Given the description of an element on the screen output the (x, y) to click on. 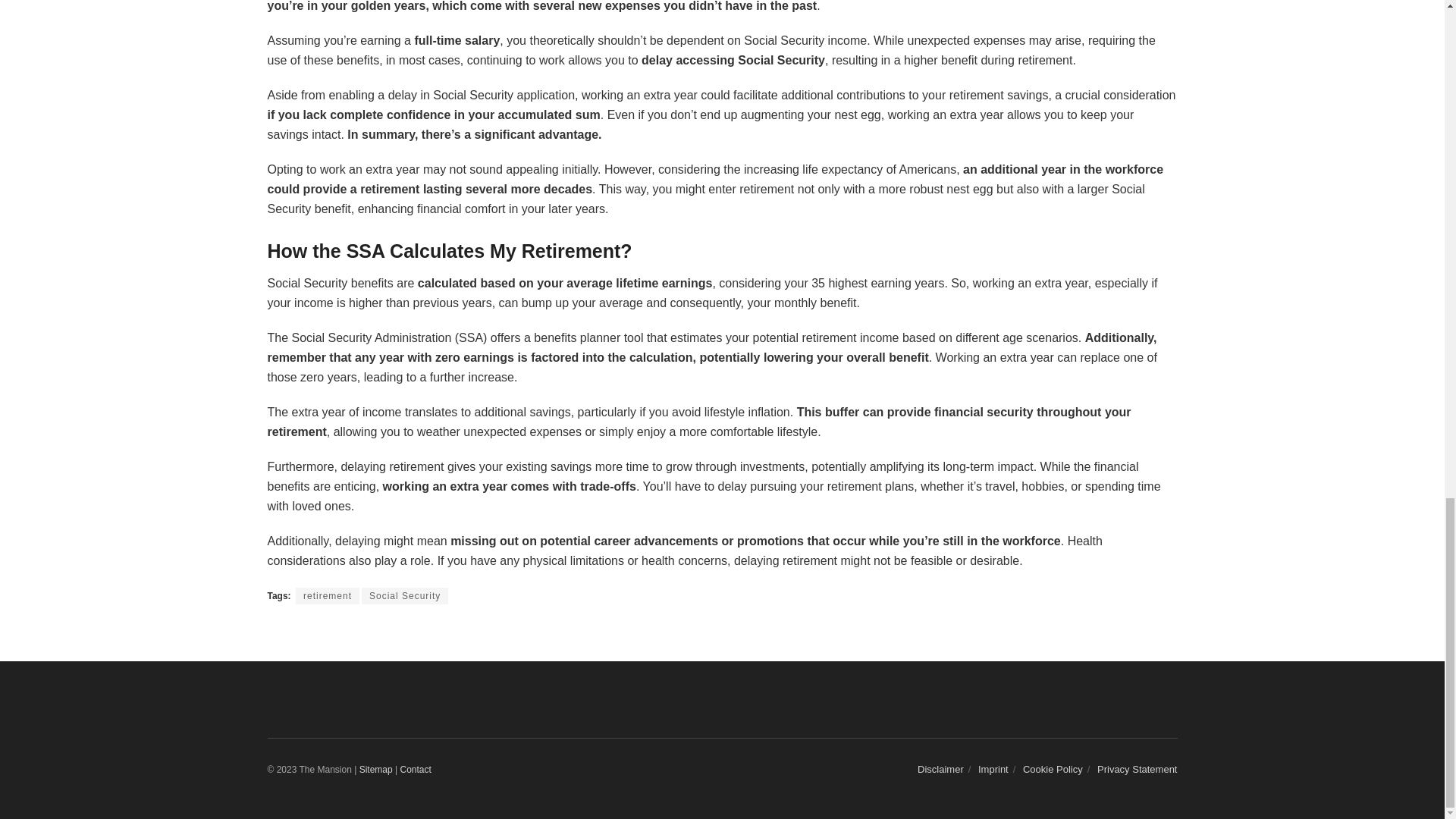
Sitemap (376, 769)
Privacy Statement (1137, 768)
retirement (327, 596)
Disclaimer (940, 768)
Cookie Policy (1053, 768)
Imprint (993, 768)
Contact (414, 769)
Social Security (404, 596)
